Given the description of an element on the screen output the (x, y) to click on. 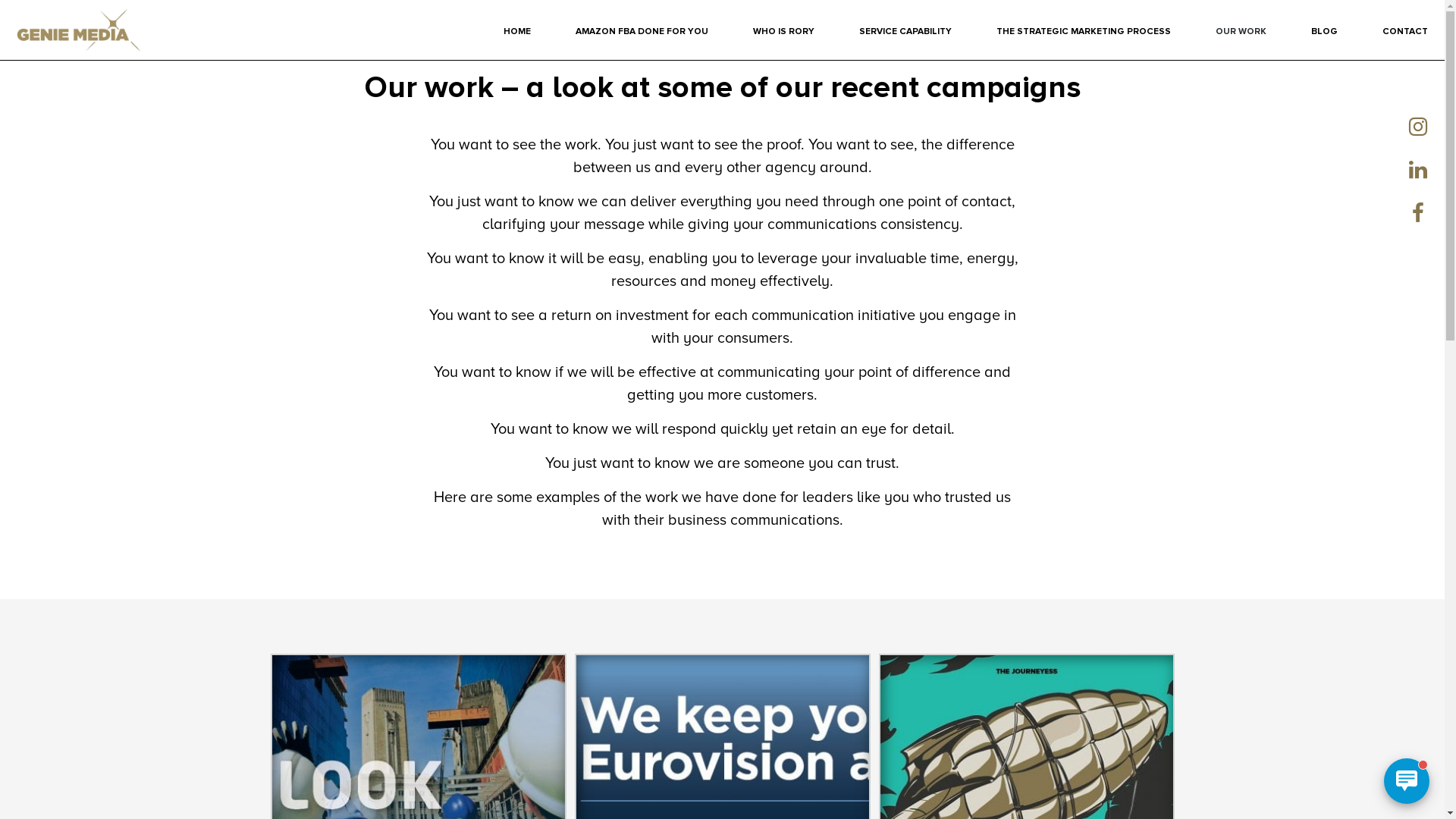
HOME Element type: text (516, 31)
BLOG Element type: text (1324, 31)
CONTACT Element type: text (1404, 31)
WHO IS RORY Element type: text (783, 31)
AMAZON FBA DONE FOR YOU Element type: text (641, 31)
SERVICE CAPABILITY Element type: text (905, 31)
OUR WORK Element type: text (1240, 31)
THE STRATEGIC MARKETING PROCESS Element type: text (1083, 31)
